Given the description of an element on the screen output the (x, y) to click on. 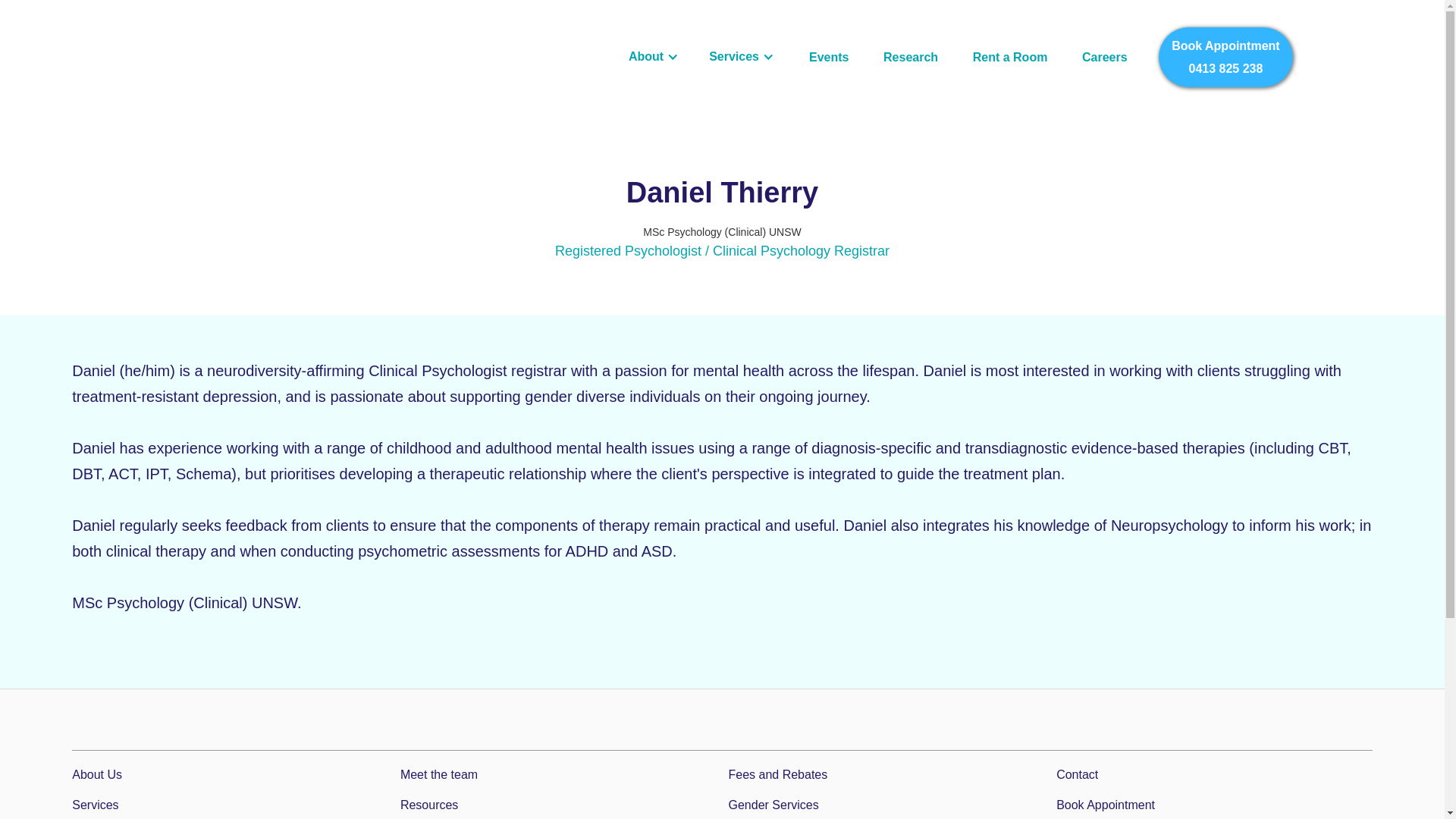
Rent a Room (1010, 57)
Fees and Rebates (885, 774)
Gender Services (885, 805)
Careers (1225, 56)
Services (1104, 57)
Book Appointment (229, 805)
About Us (1215, 805)
Meet the team (229, 774)
Research (558, 774)
Resources (911, 57)
Events (558, 805)
Contact (829, 57)
